Given the description of an element on the screen output the (x, y) to click on. 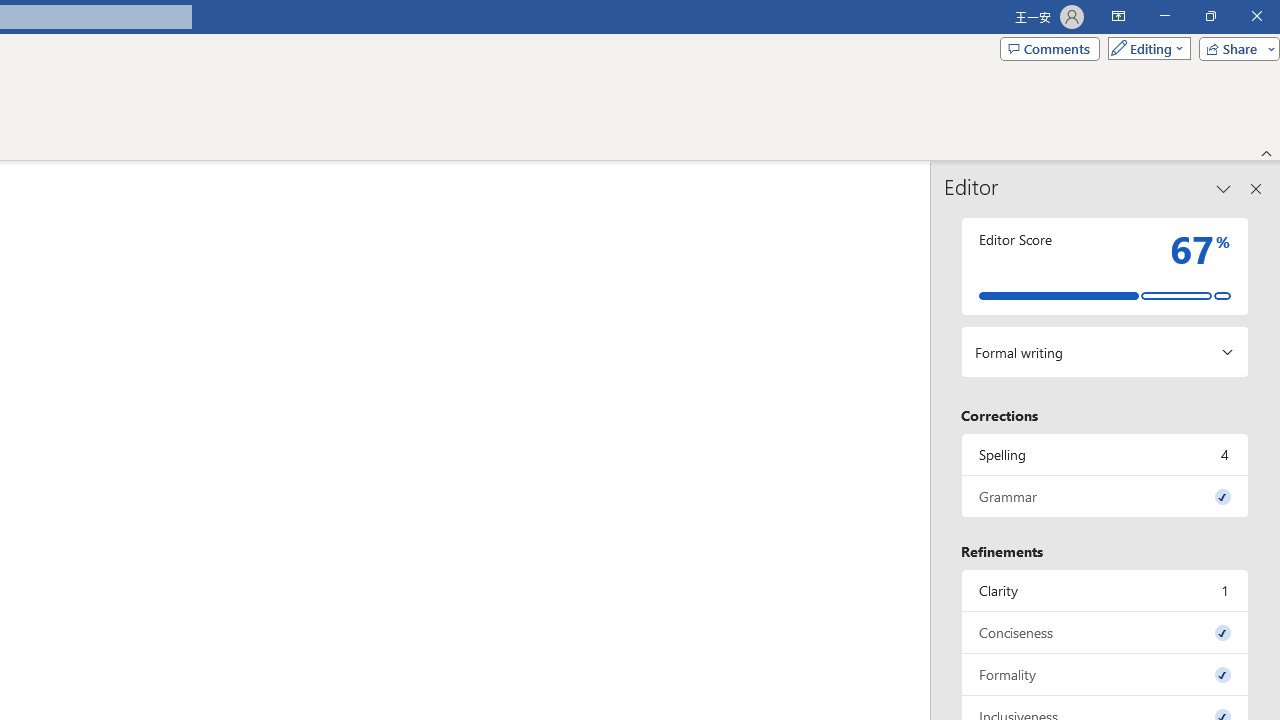
Clarity, 1 issue. Press space or enter to review items. (1105, 590)
